Given the description of an element on the screen output the (x, y) to click on. 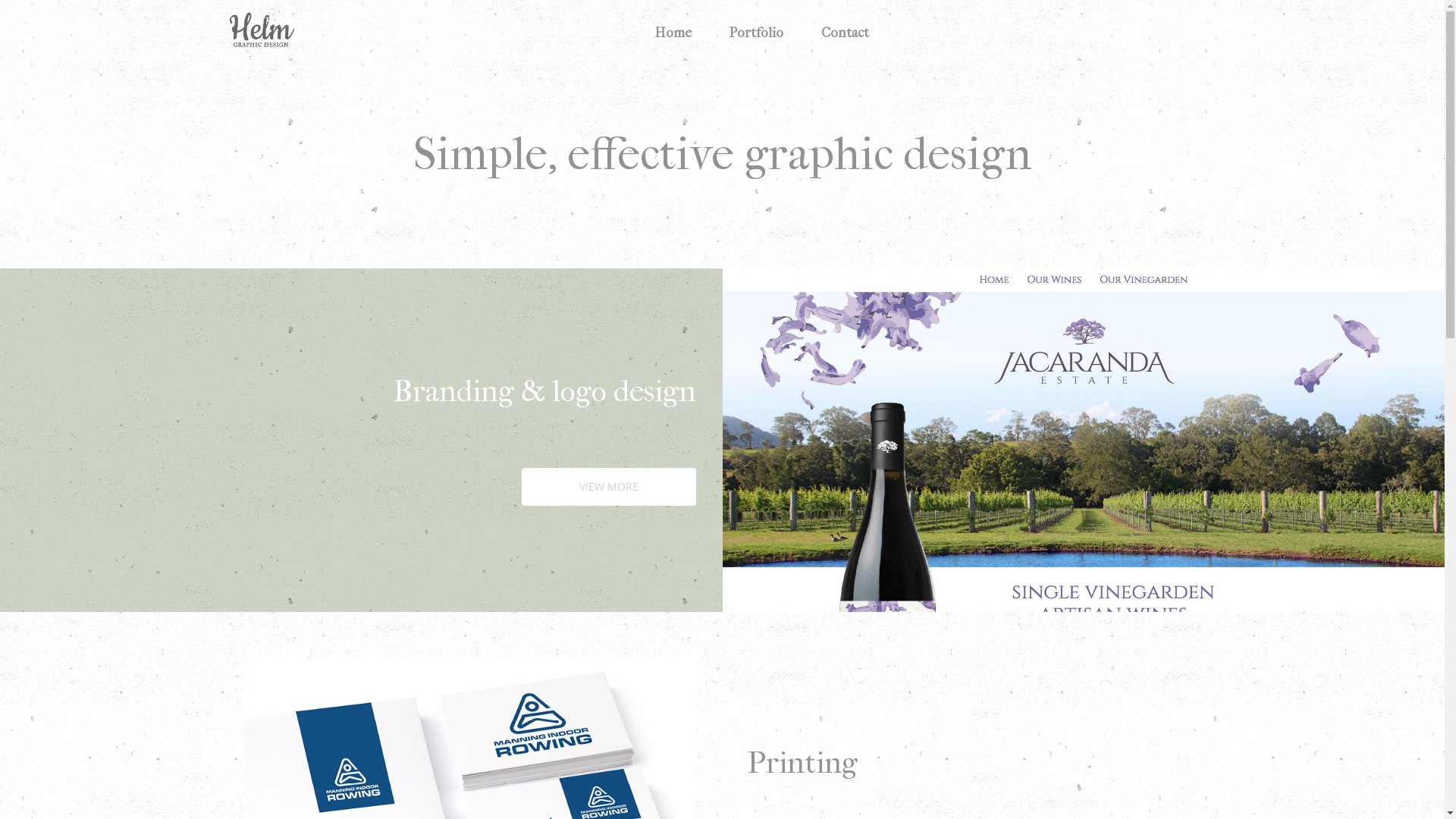
Contact Element type: text (844, 32)
Portfolio Element type: text (755, 32)
Helm Graphic Design Element type: hover (261, 33)
VIEW MORE Element type: text (608, 486)
Home Element type: text (673, 32)
